Given the description of an element on the screen output the (x, y) to click on. 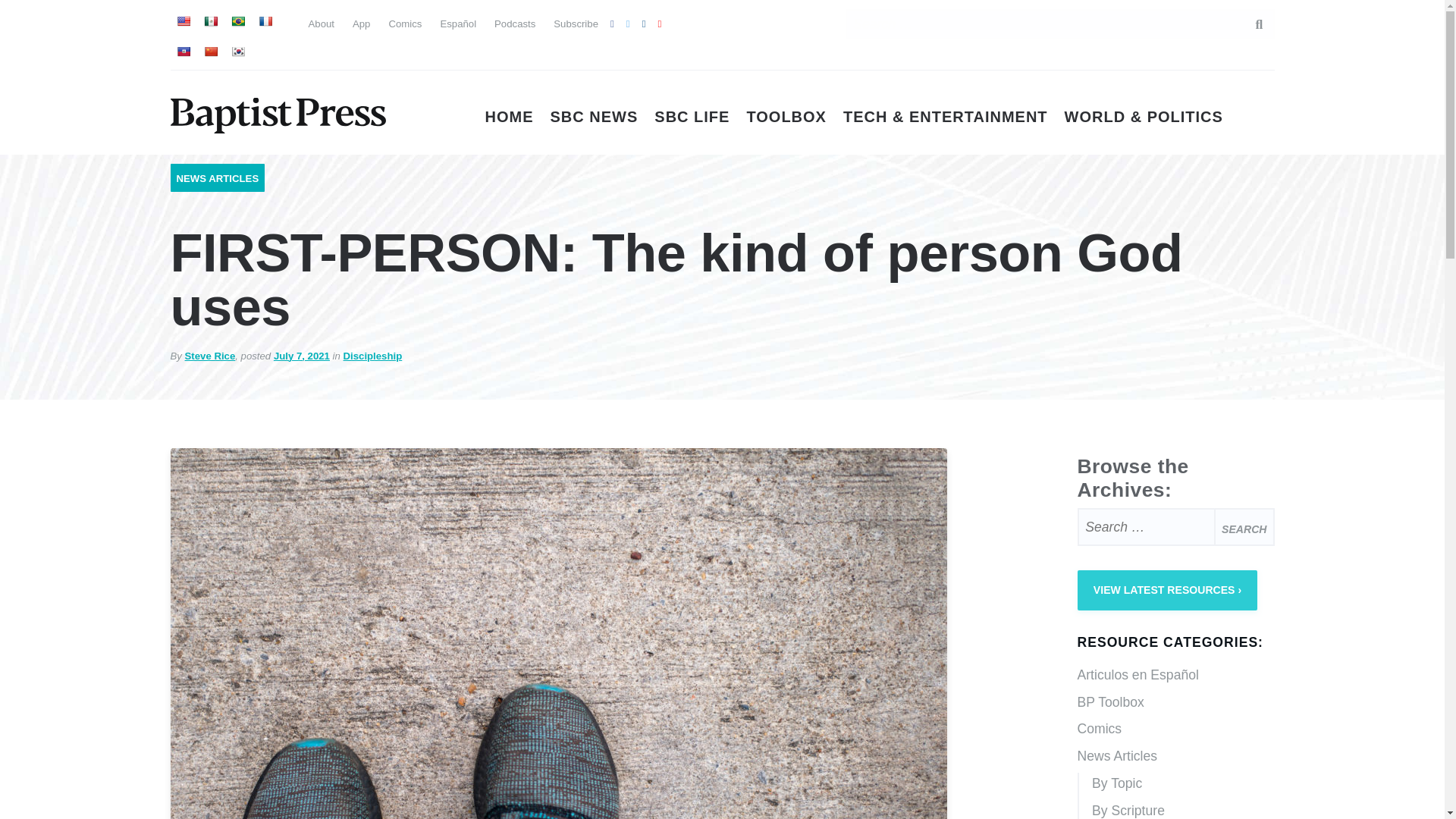
Subscribe (575, 23)
Search (1244, 526)
TOOLBOX (786, 116)
App (360, 23)
HOME (509, 116)
Podcasts (515, 23)
Portuguese (237, 21)
French (263, 21)
NEWS ARTICLES (217, 178)
About (320, 23)
Search (1244, 526)
SBC NEWS (594, 116)
Korean (237, 51)
English (182, 21)
